Given the description of an element on the screen output the (x, y) to click on. 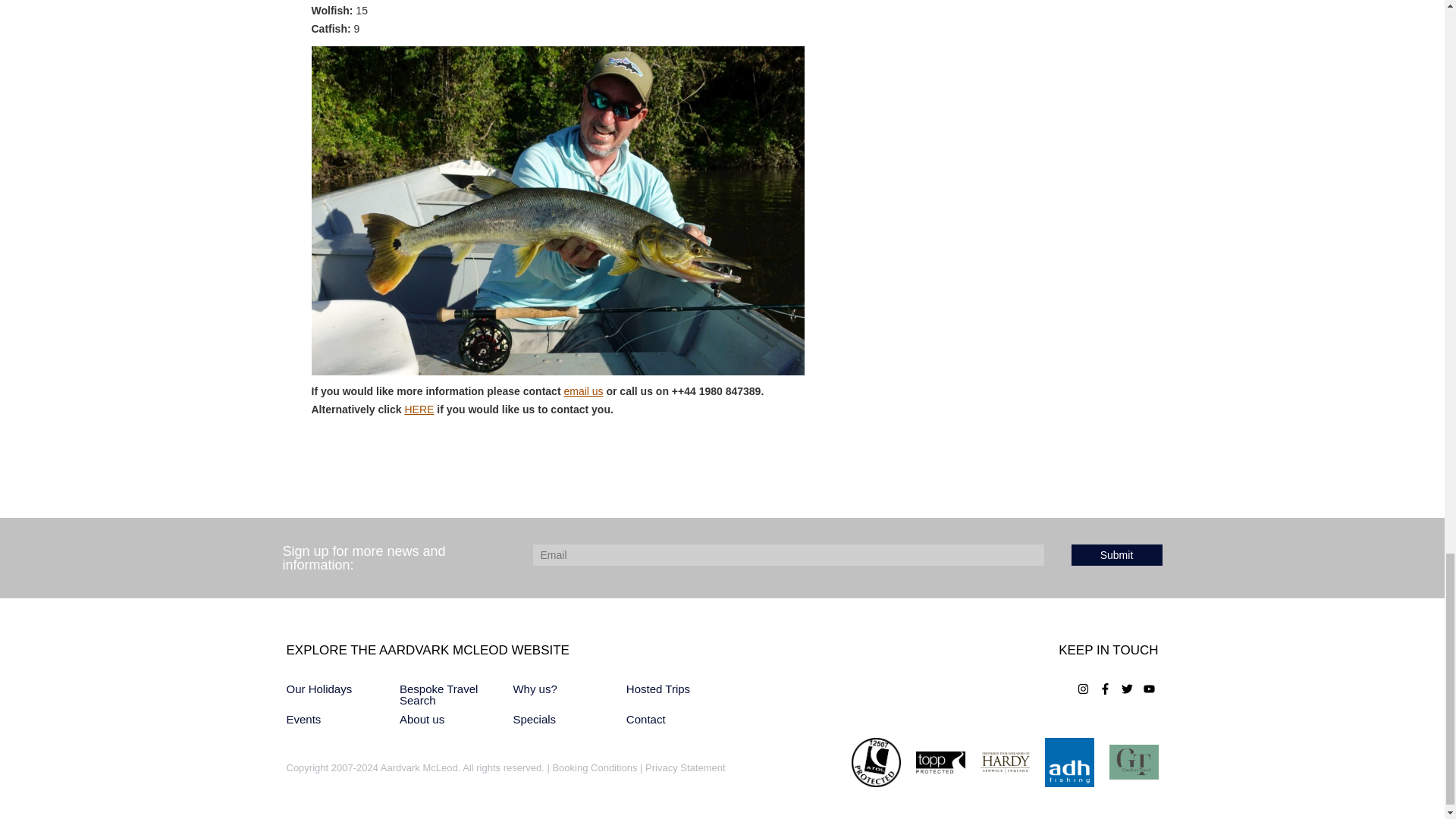
Submit (1115, 554)
